Given the description of an element on the screen output the (x, y) to click on. 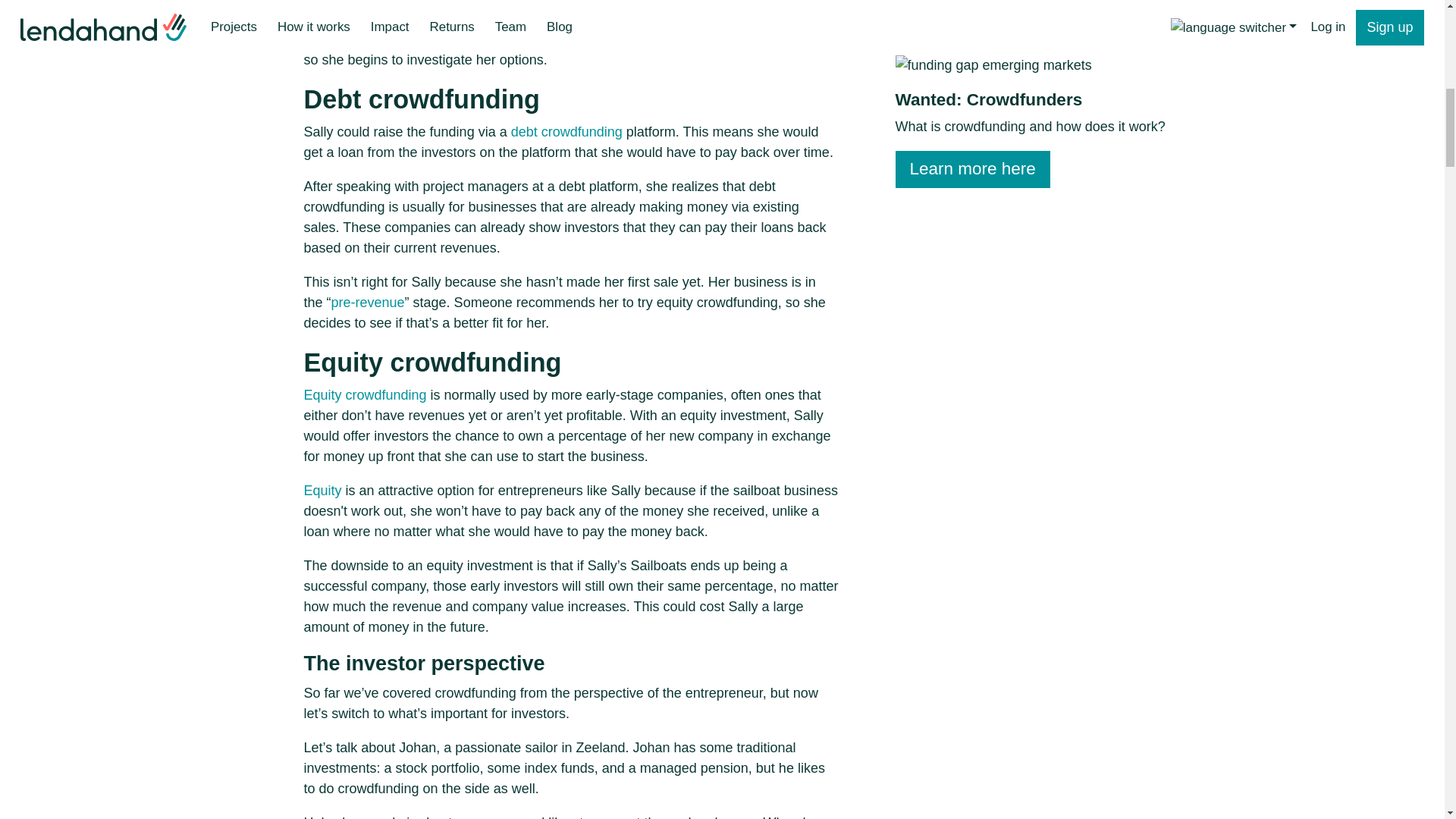
pre-revenue (367, 302)
debt crowdfunding (567, 131)
